Given the description of an element on the screen output the (x, y) to click on. 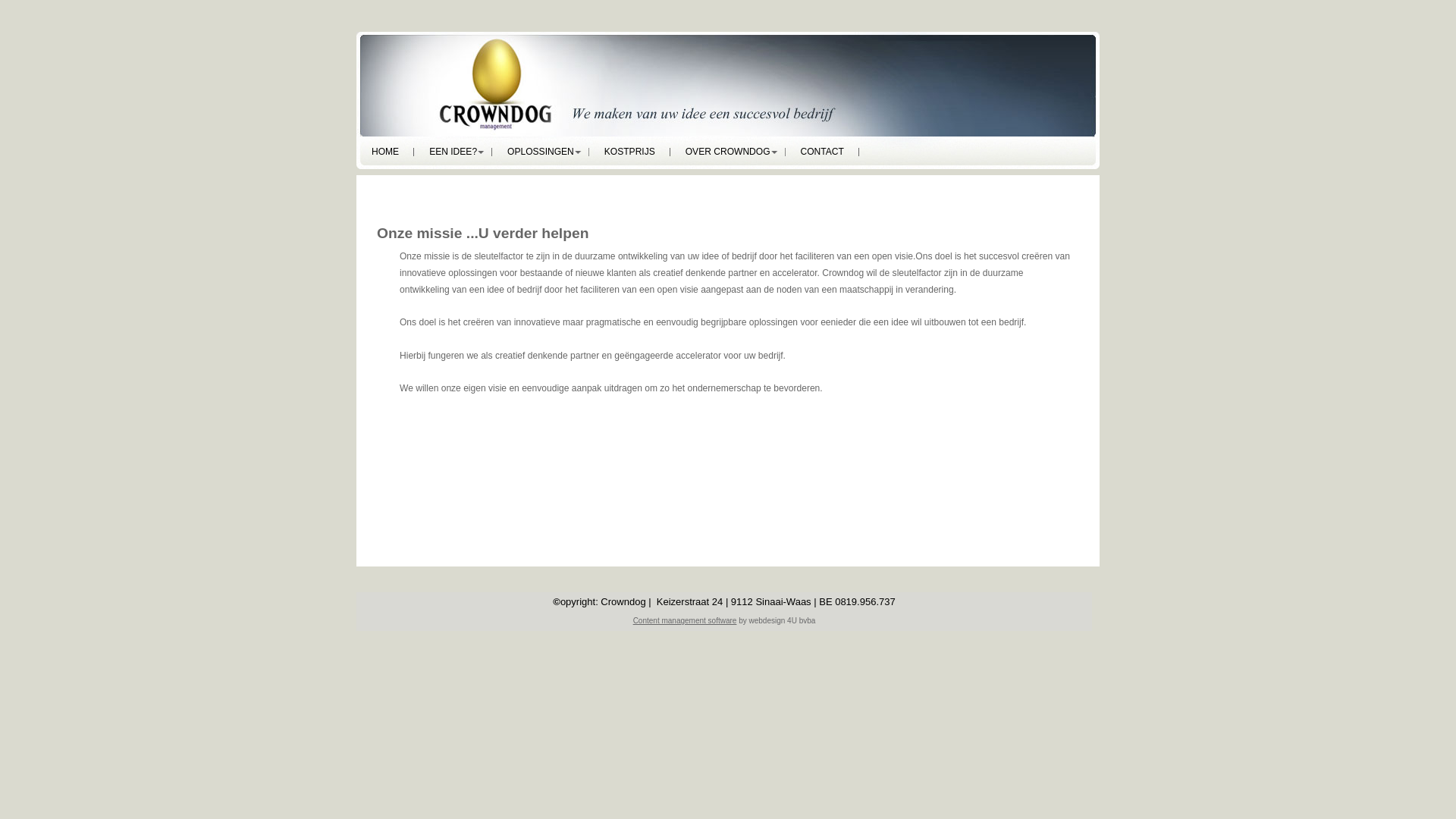
EEN IDEE? Element type: text (453, 151)
HOME Element type: text (385, 151)
OPLOSSINGEN Element type: text (540, 151)
Content management software Element type: text (685, 620)
CONTACT Element type: text (822, 151)
OVER CROWNDOG Element type: text (727, 151)
KOSTPRIJS Element type: text (629, 151)
